Given the description of an element on the screen output the (x, y) to click on. 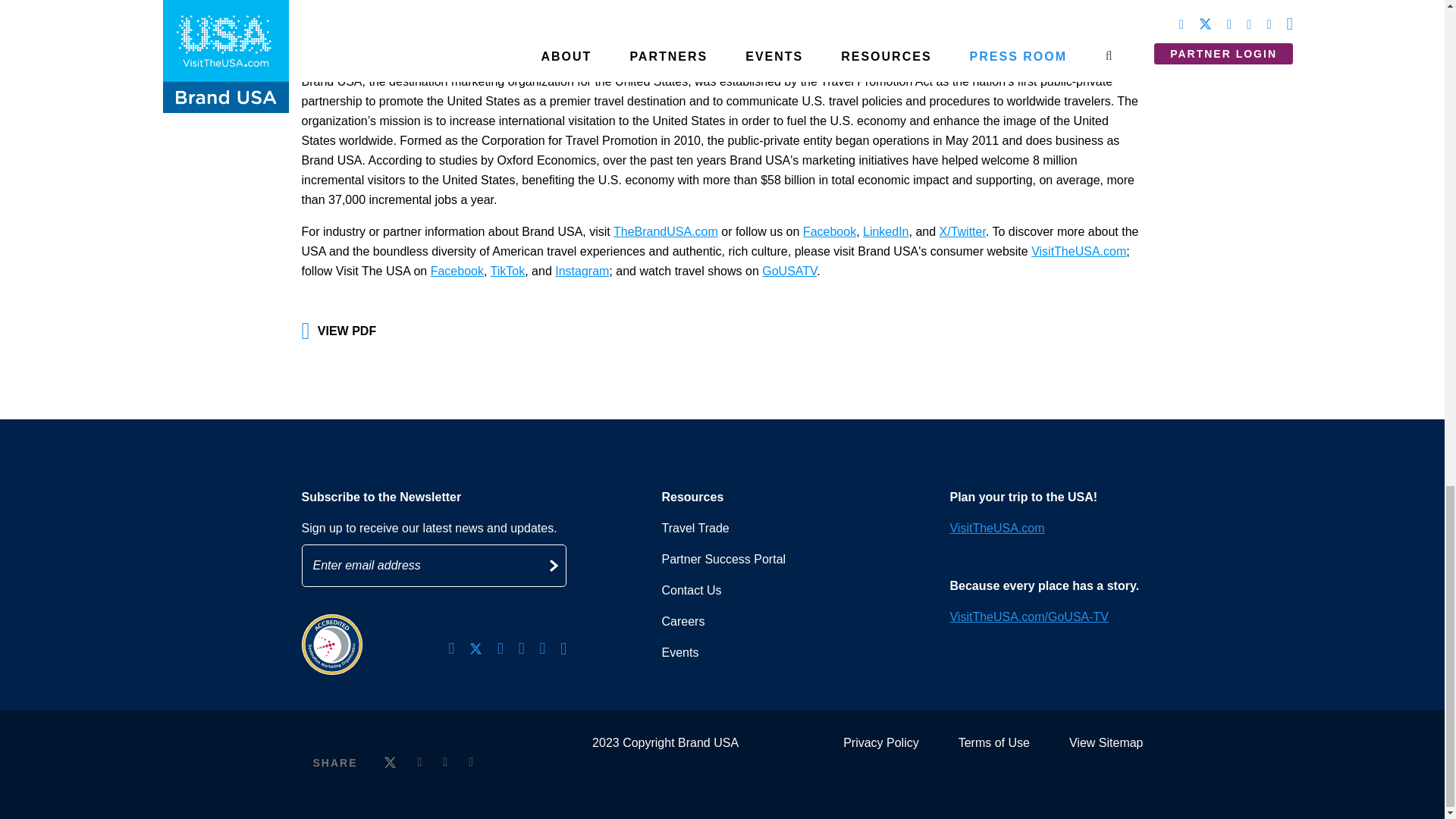
Travel Trade (695, 527)
Careers (682, 621)
Terms of Use (993, 742)
Partner Reports Portal (723, 558)
Privacy Policy (880, 742)
Contact Us (690, 590)
